Given the description of an element on the screen output the (x, y) to click on. 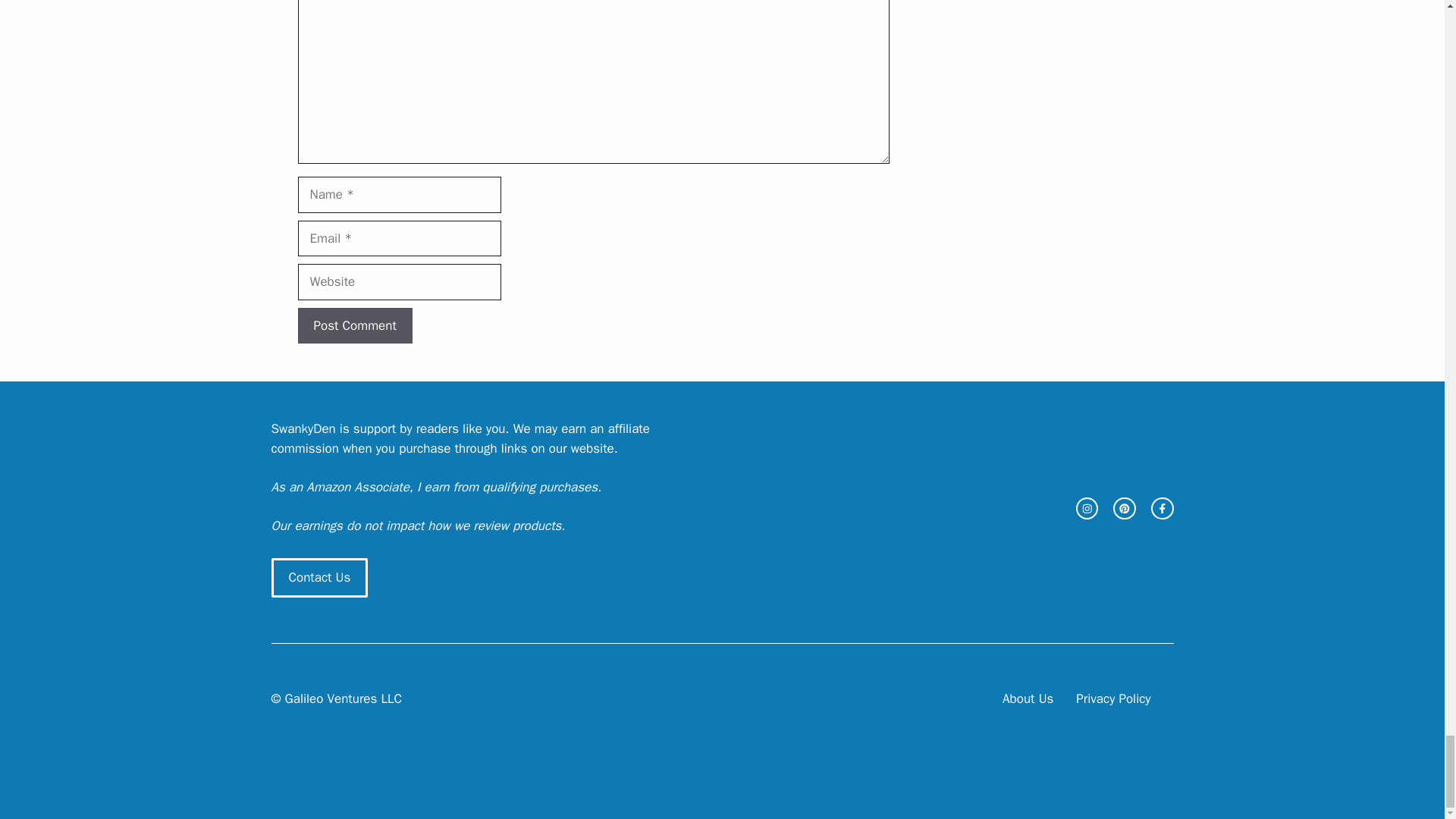
Post Comment (354, 325)
